Given the description of an element on the screen output the (x, y) to click on. 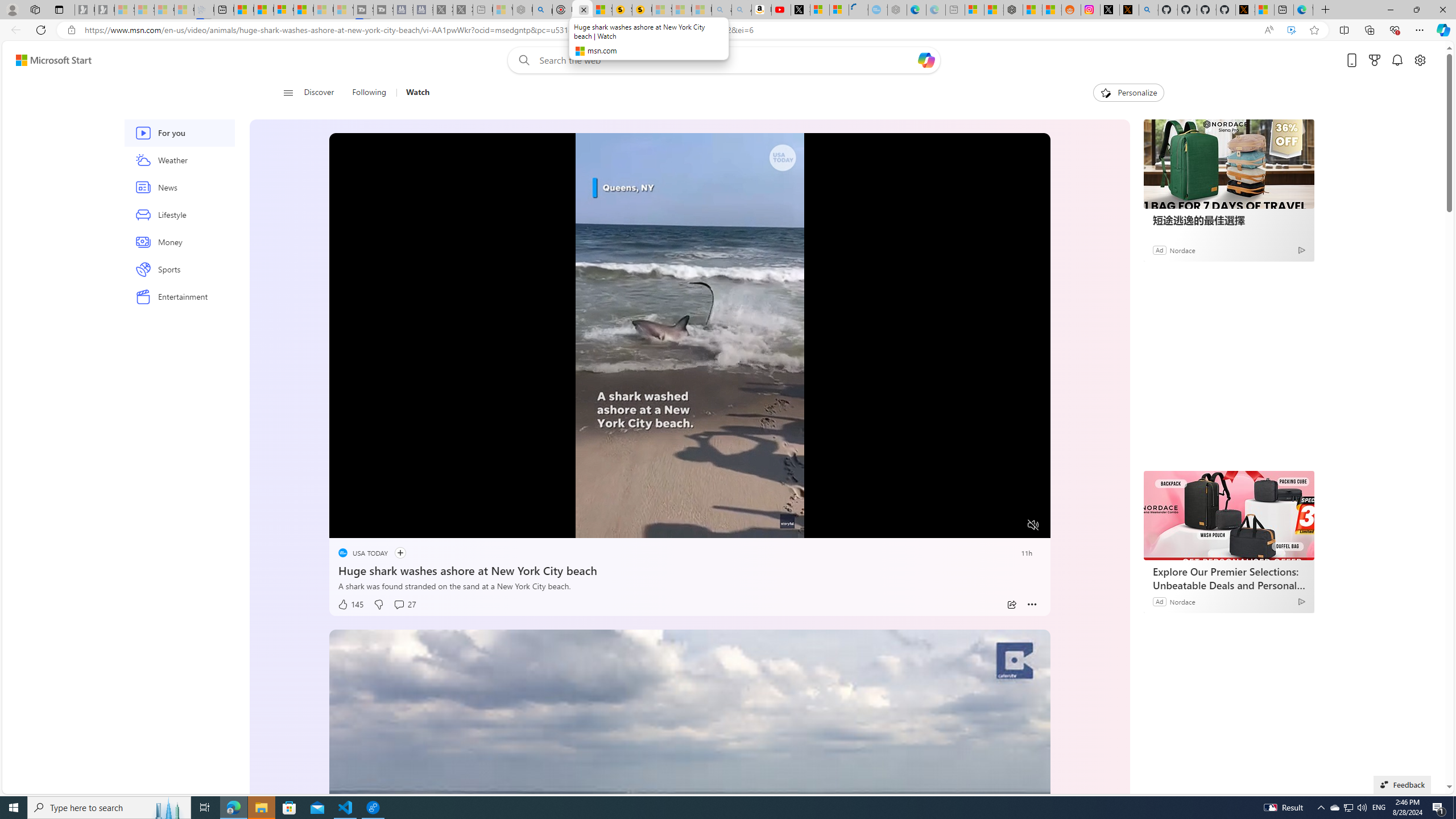
Amazon Echo Dot PNG - Search Images - Sleeping (741, 9)
Enhance video (1291, 29)
Wildlife - MSN - Sleeping (501, 9)
Share (1010, 604)
Welcome to Microsoft Edge (1302, 9)
X Privacy Policy (1244, 9)
